Given the description of an element on the screen output the (x, y) to click on. 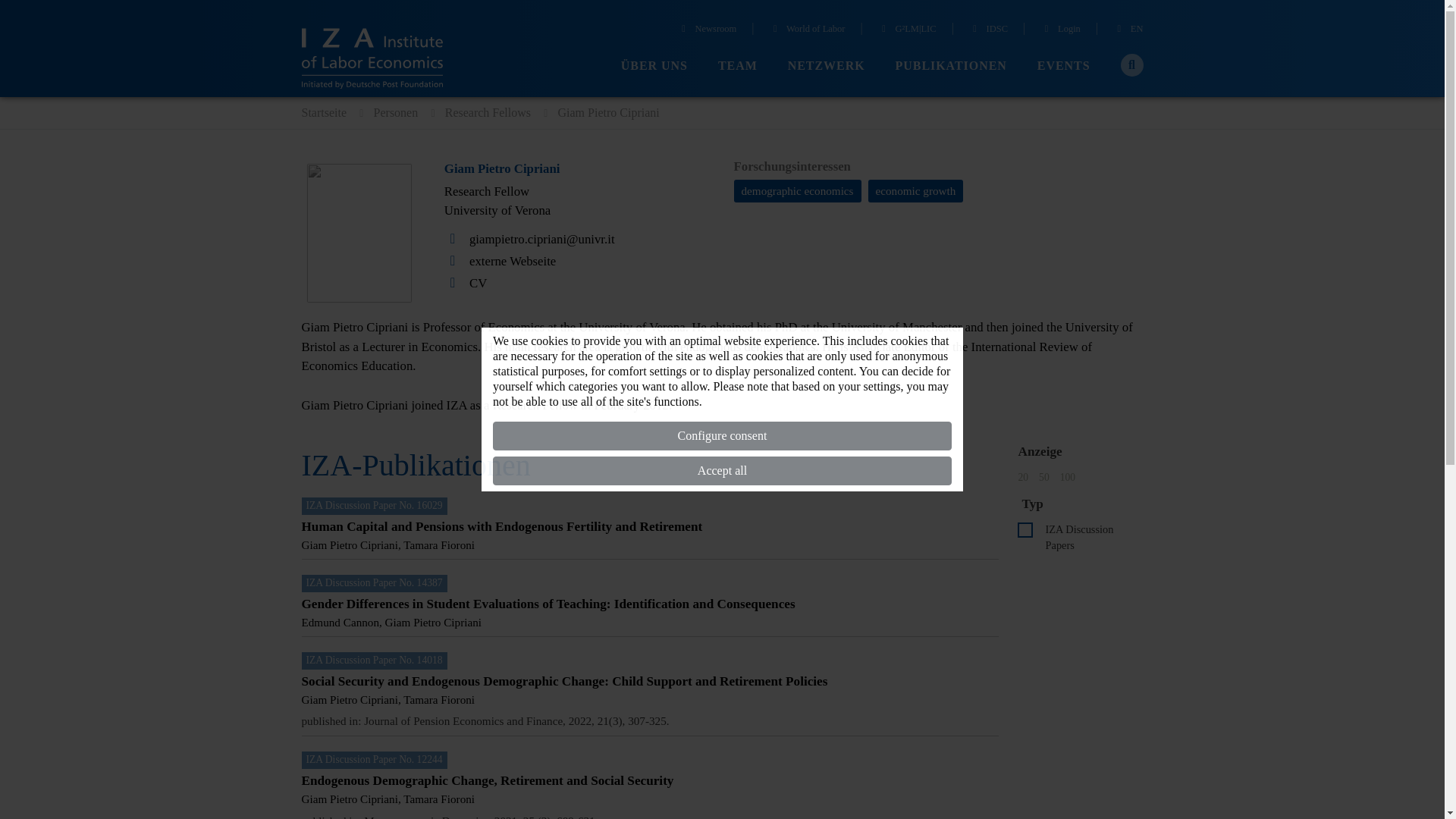
TEAM (737, 66)
Newsroom (707, 30)
IDSC (988, 30)
World of Labor (807, 30)
EVENTS (1063, 66)
Login (1060, 30)
NETZWERK (825, 66)
EN (1127, 30)
dp (1024, 529)
PUBLIKATIONEN (951, 66)
